Given the description of an element on the screen output the (x, y) to click on. 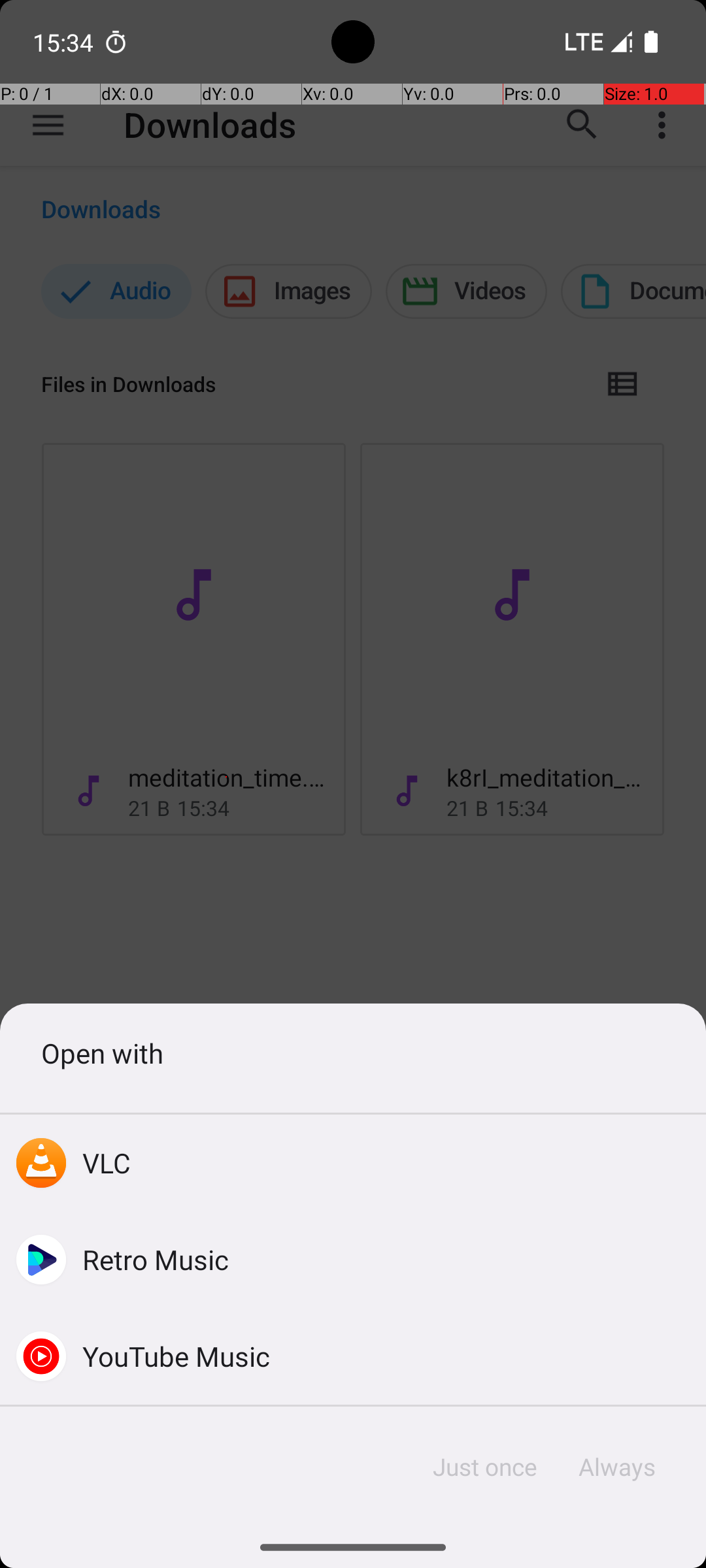
Open with Element type: android.widget.TextView (352, 1052)
YouTube Music Element type: android.widget.TextView (175, 1355)
